Given the description of an element on the screen output the (x, y) to click on. 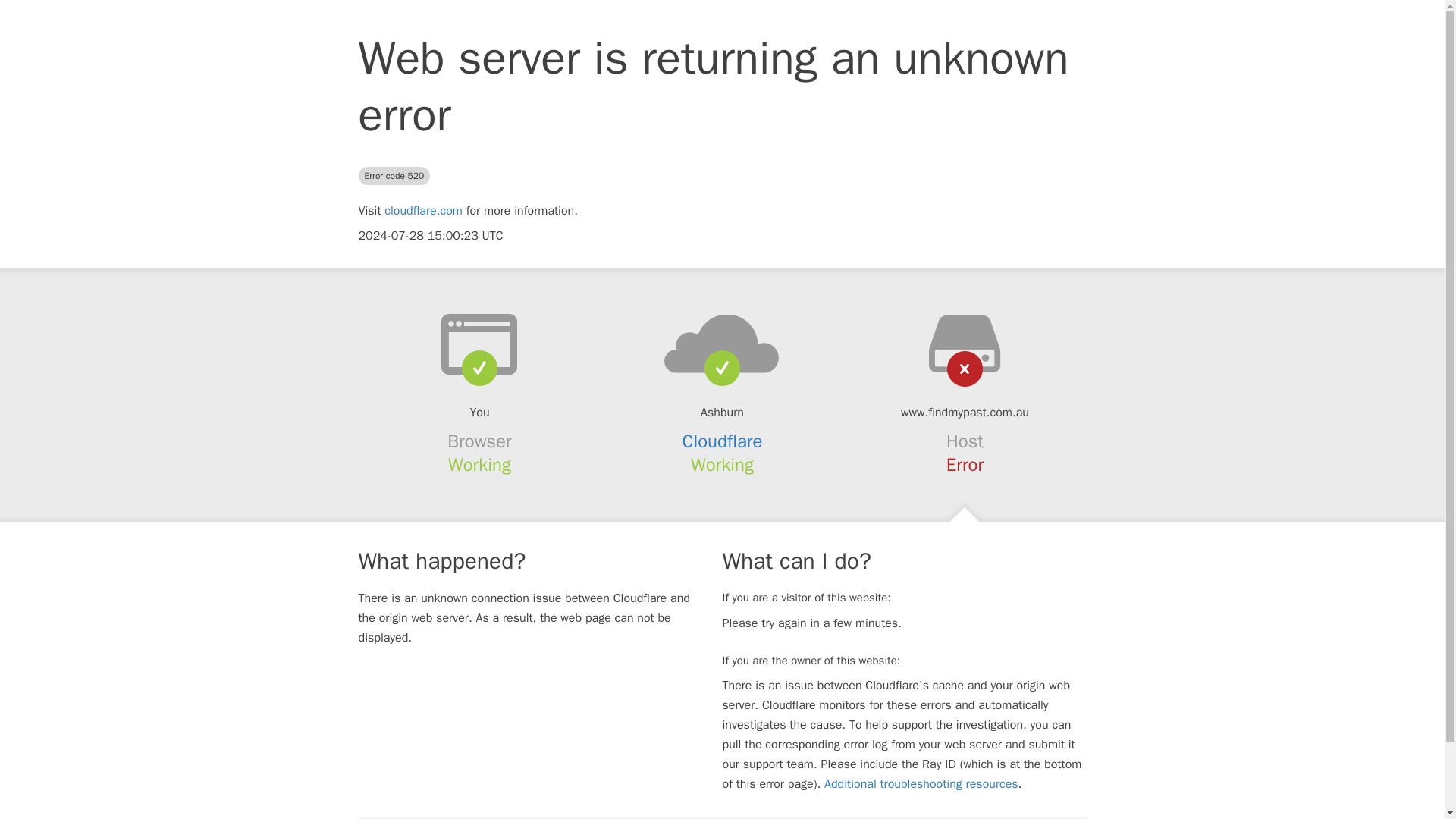
Cloudflare (722, 440)
cloudflare.com (423, 210)
Additional troubleshooting resources (920, 783)
